Given the description of an element on the screen output the (x, y) to click on. 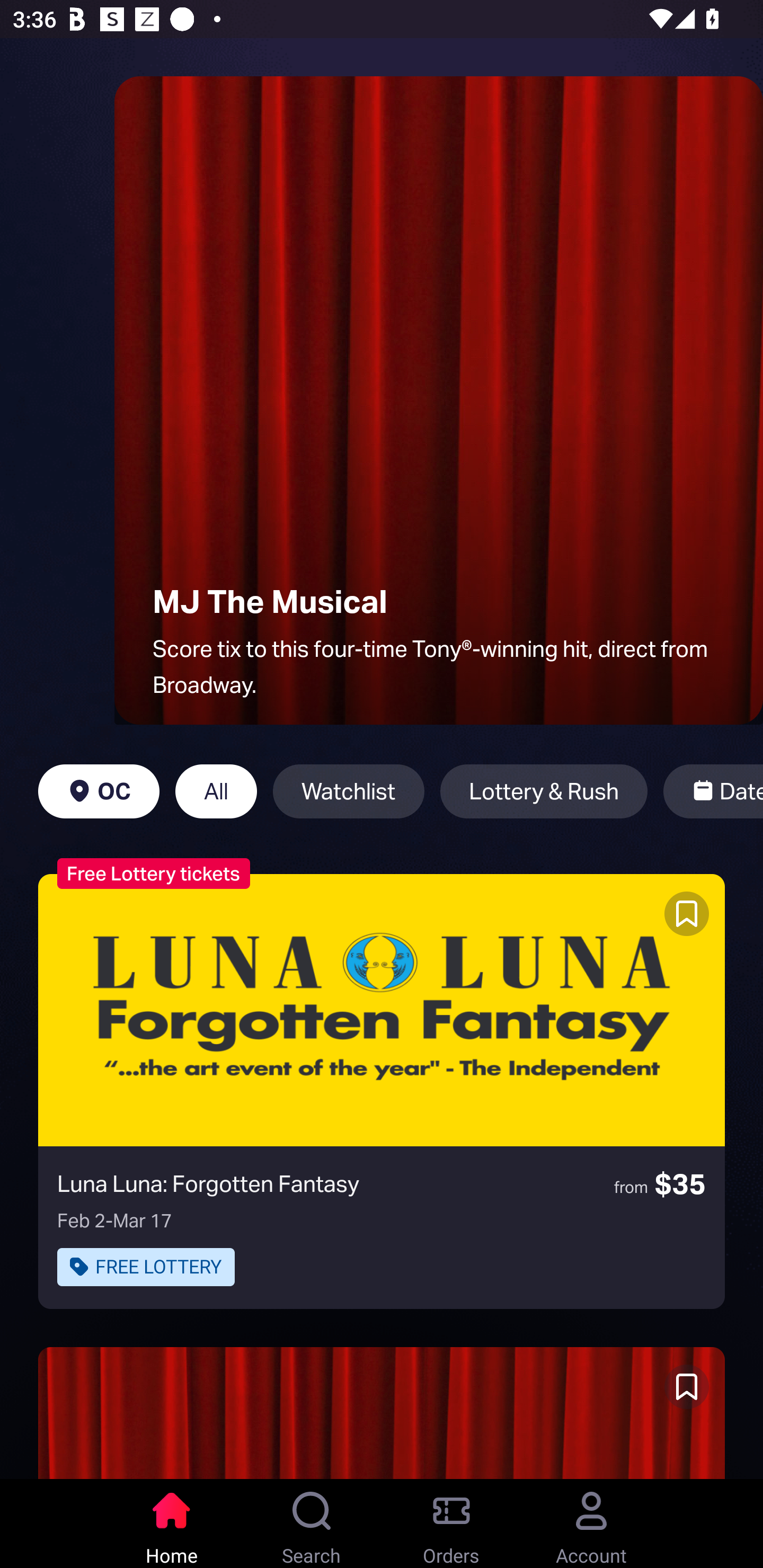
OC (98, 791)
All (216, 791)
Watchlist (348, 791)
Lottery & Rush (543, 791)
Search (311, 1523)
Orders (451, 1523)
Account (591, 1523)
